Given the description of an element on the screen output the (x, y) to click on. 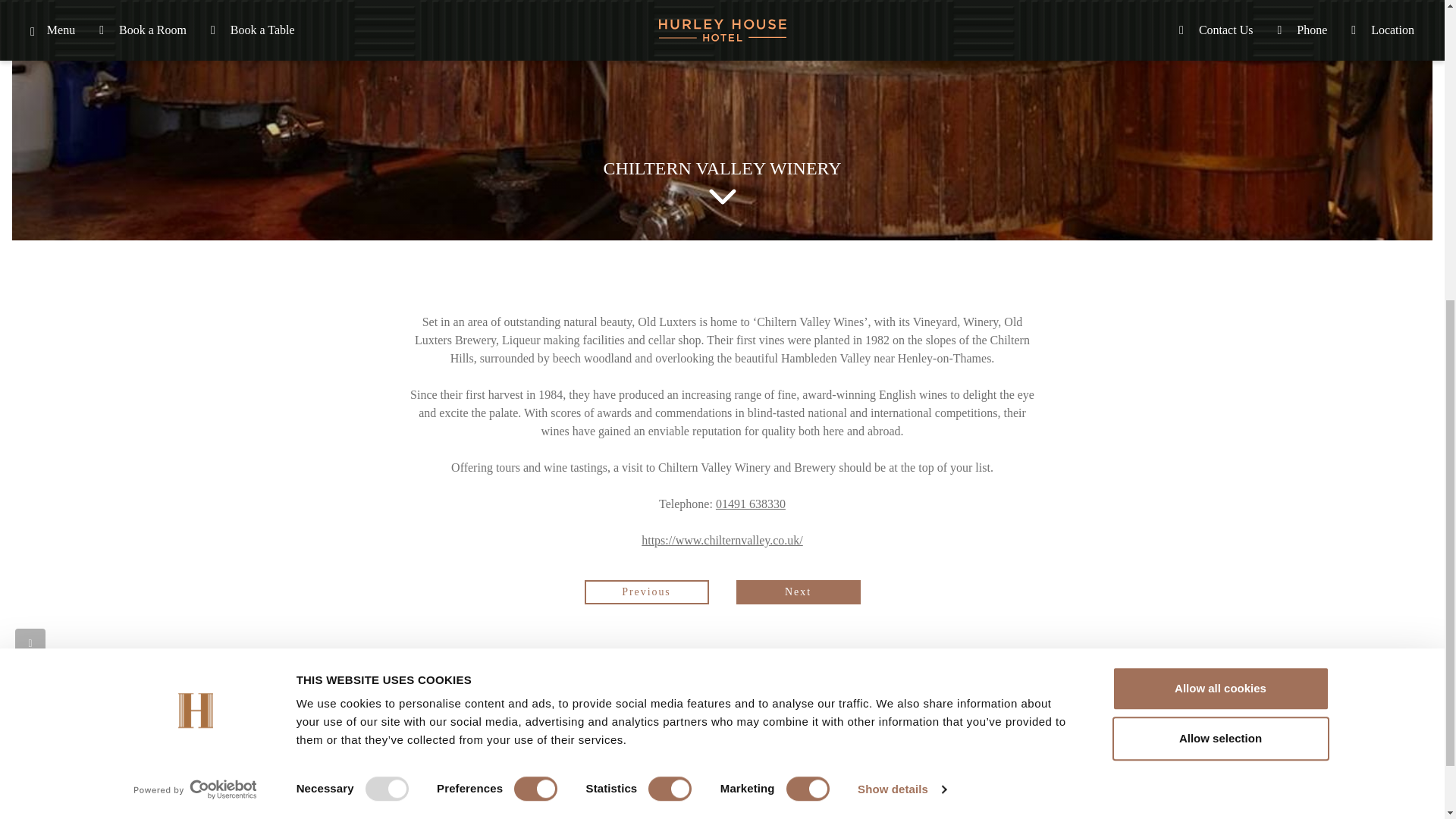
Show details (900, 280)
Allow selection (1219, 229)
Allow all cookies (1219, 179)
